Given the description of an element on the screen output the (x, y) to click on. 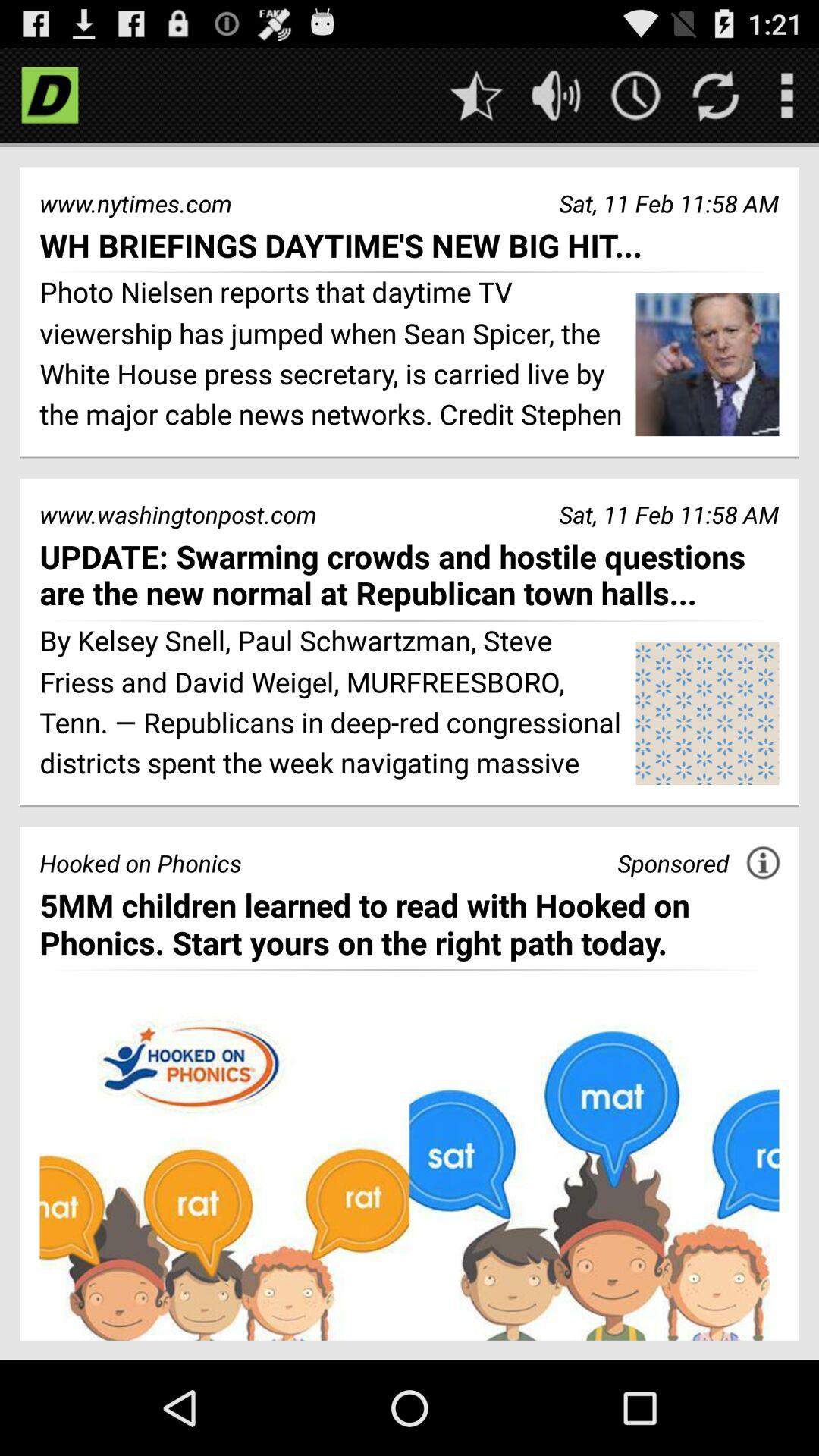
volume setting (556, 95)
